Given the description of an element on the screen output the (x, y) to click on. 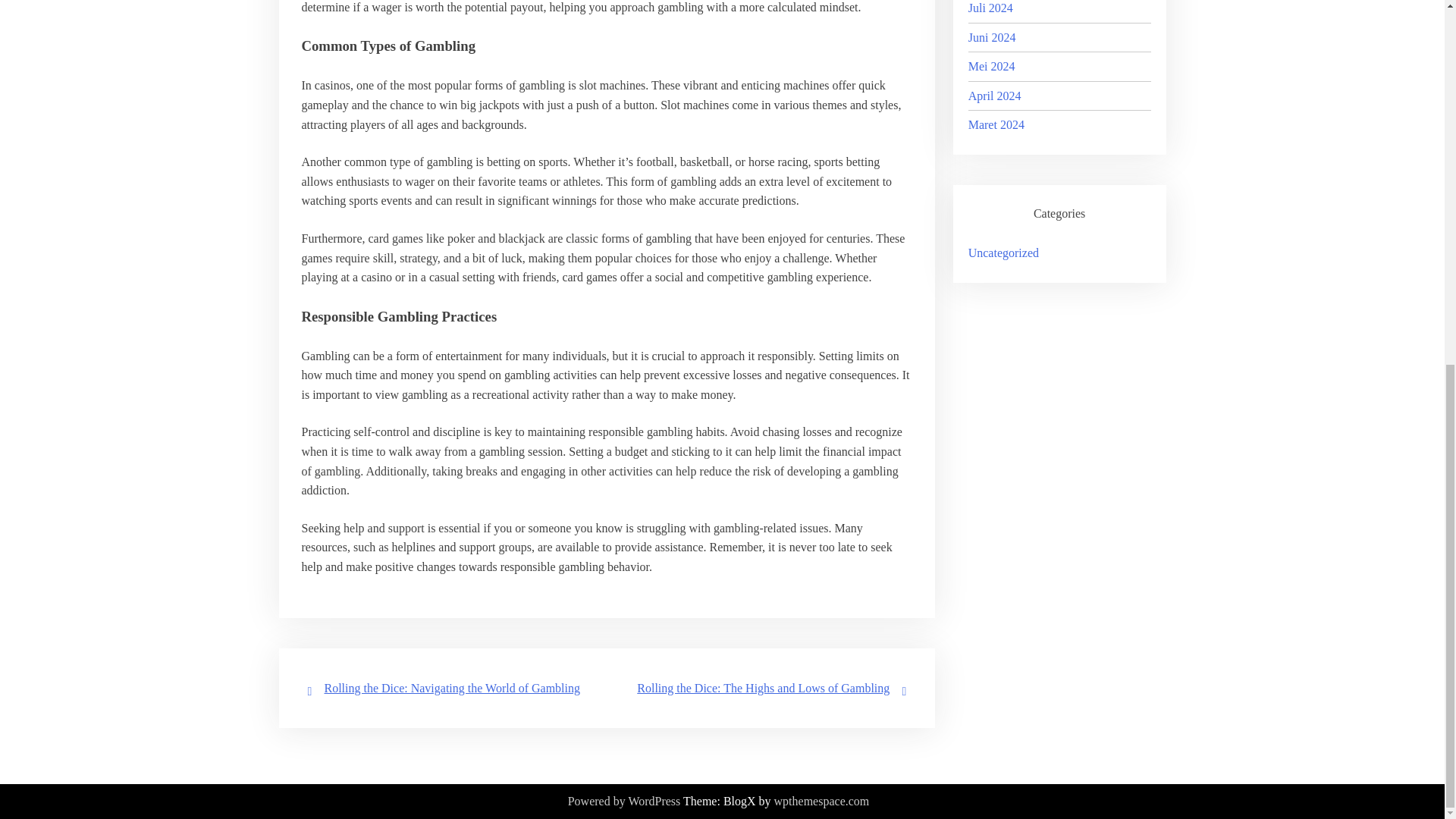
wpthemespace.com (821, 801)
Maret 2024 (996, 124)
Juli 2024 (990, 7)
Juni 2024 (992, 36)
Uncategorized (1003, 252)
Mei 2024 (991, 65)
April 2024 (995, 95)
Rolling the Dice: Navigating the World of Gambling (451, 687)
Rolling the Dice: The Highs and Lows of Gambling (763, 687)
Powered by WordPress (624, 801)
